Given the description of an element on the screen output the (x, y) to click on. 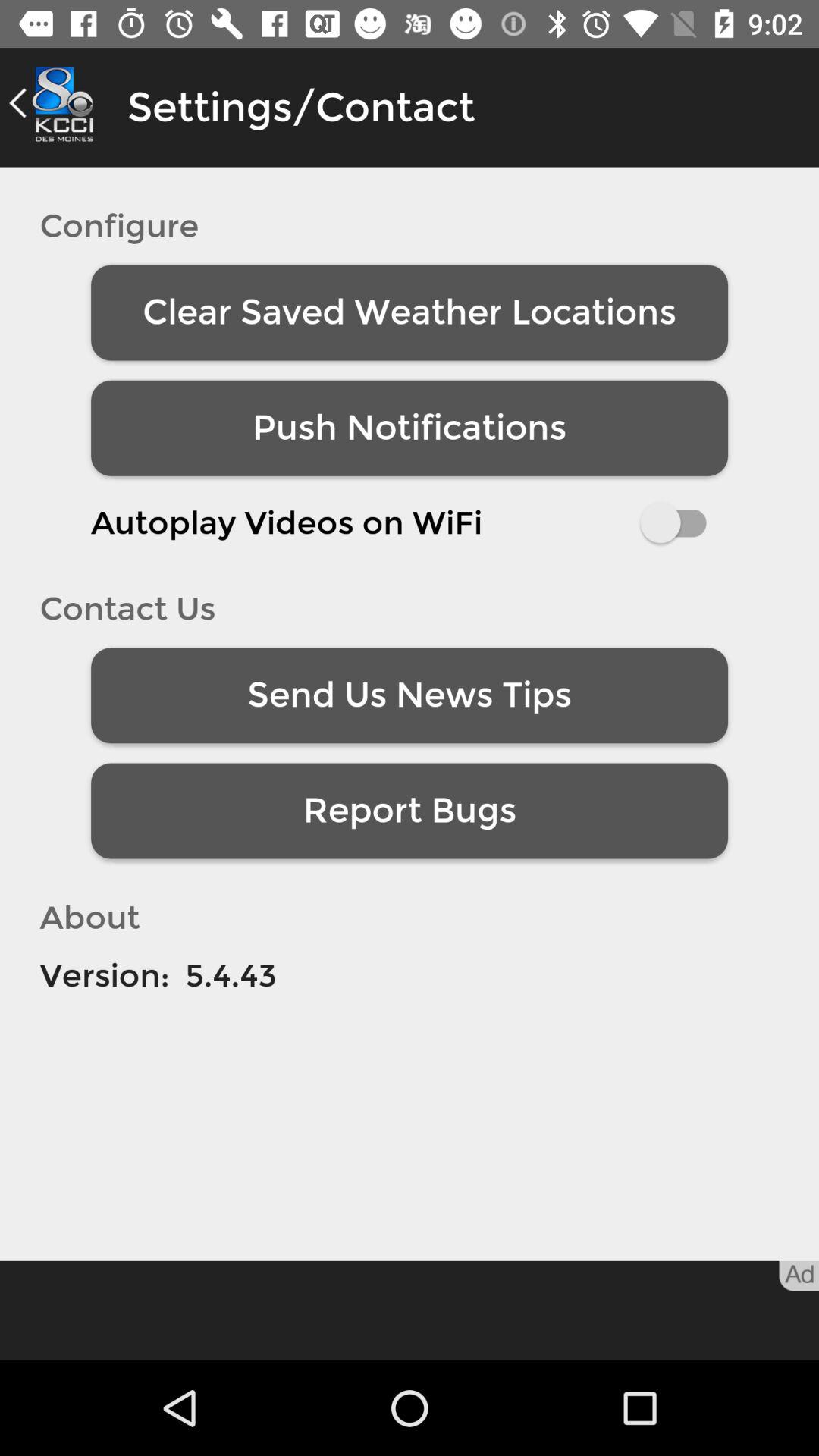
turn off the item below the report bugs icon (230, 975)
